Given the description of an element on the screen output the (x, y) to click on. 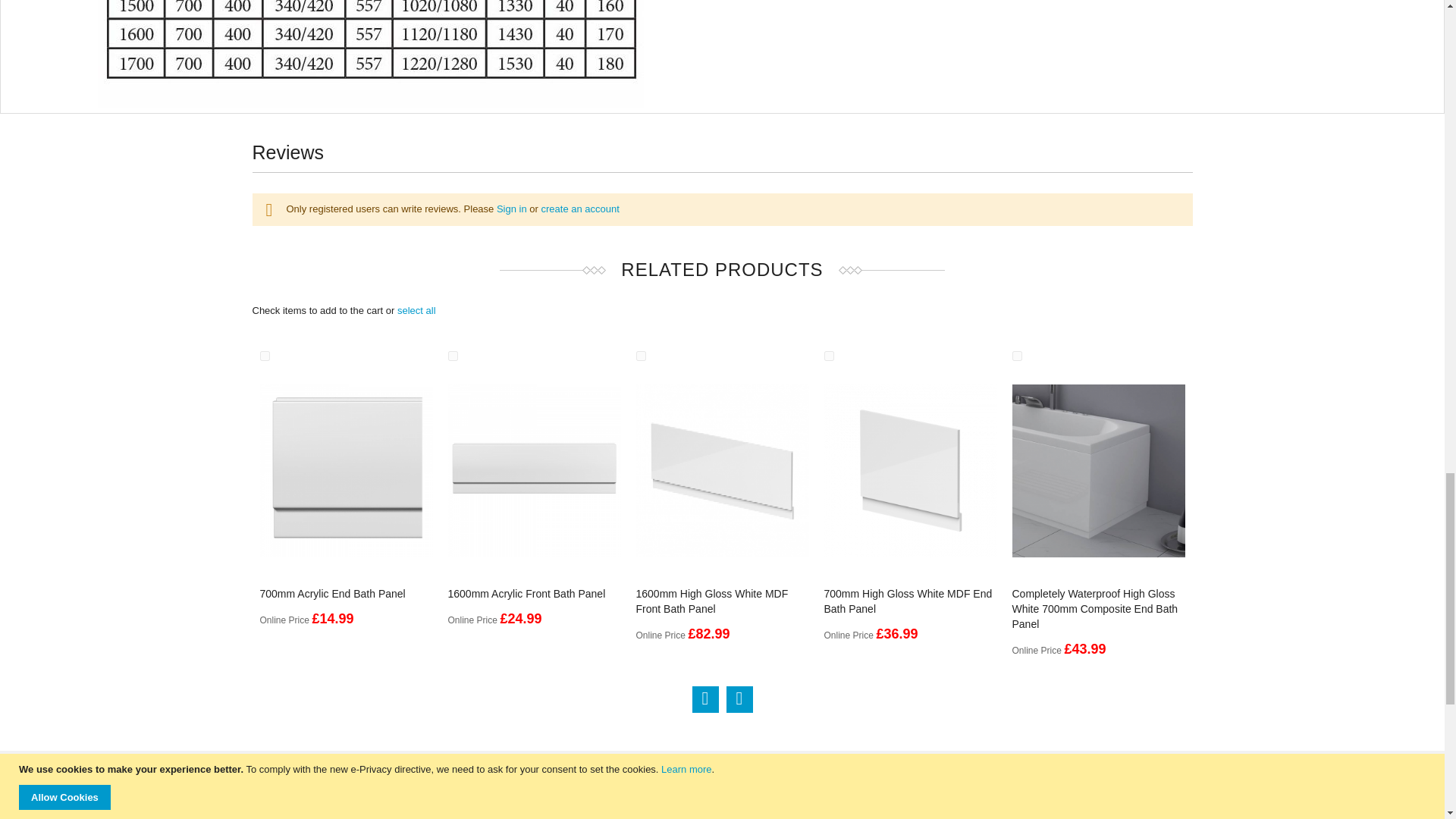
700mm Acrylic End Bath Panel (331, 593)
128 (264, 356)
154 (1016, 356)
1600mm Acrylic Front Bath Panel (525, 593)
135 (451, 356)
700mm High Gloss White MDF End Bath Panel  (907, 601)
148 (639, 356)
1600mm High Gloss White MDF Front Bath Panel  (710, 601)
144 (828, 356)
